Given the description of an element on the screen output the (x, y) to click on. 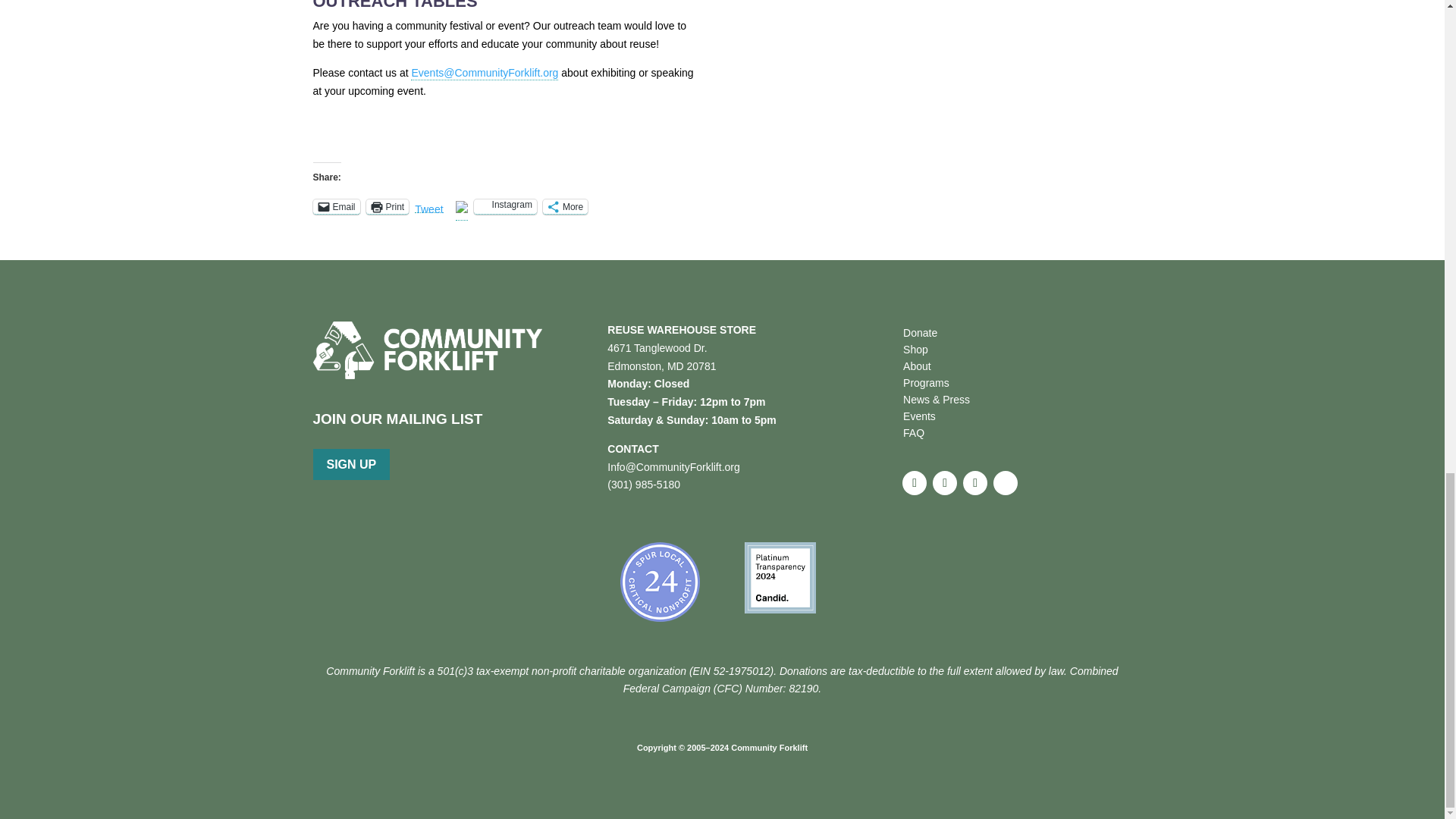
Follow on X (944, 482)
Click to share on Instagram (505, 206)
GuideStar-Candid2024PlatinumSealofTransparency (779, 577)
Follow on Instagram (974, 482)
Follow on Youtube (1004, 482)
Click to print (387, 206)
Follow on Facebook (914, 482)
Click to email a link to a friend (336, 206)
